Given the description of an element on the screen output the (x, y) to click on. 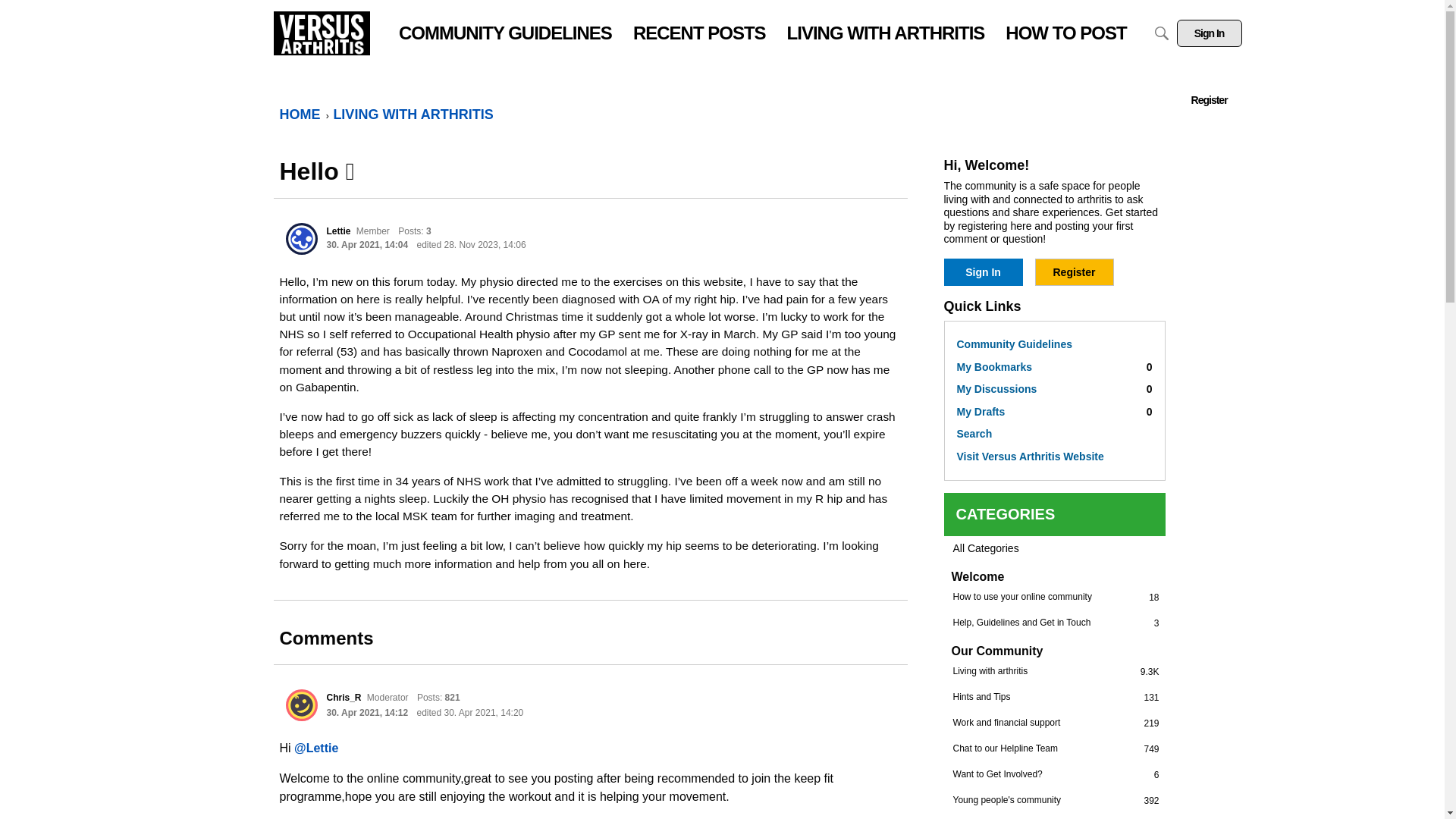
30. Apr 2021, 14:04 (366, 244)
HOME (299, 114)
Visit Versus Arthritis Website (1054, 456)
9,281 discussions (1054, 389)
Edited 28. Nov 2023, 14:06 by PeterJ. (1149, 670)
219 discussions (470, 244)
Sign In (1150, 722)
Sign In (982, 271)
Lettie (982, 271)
